Given the description of an element on the screen output the (x, y) to click on. 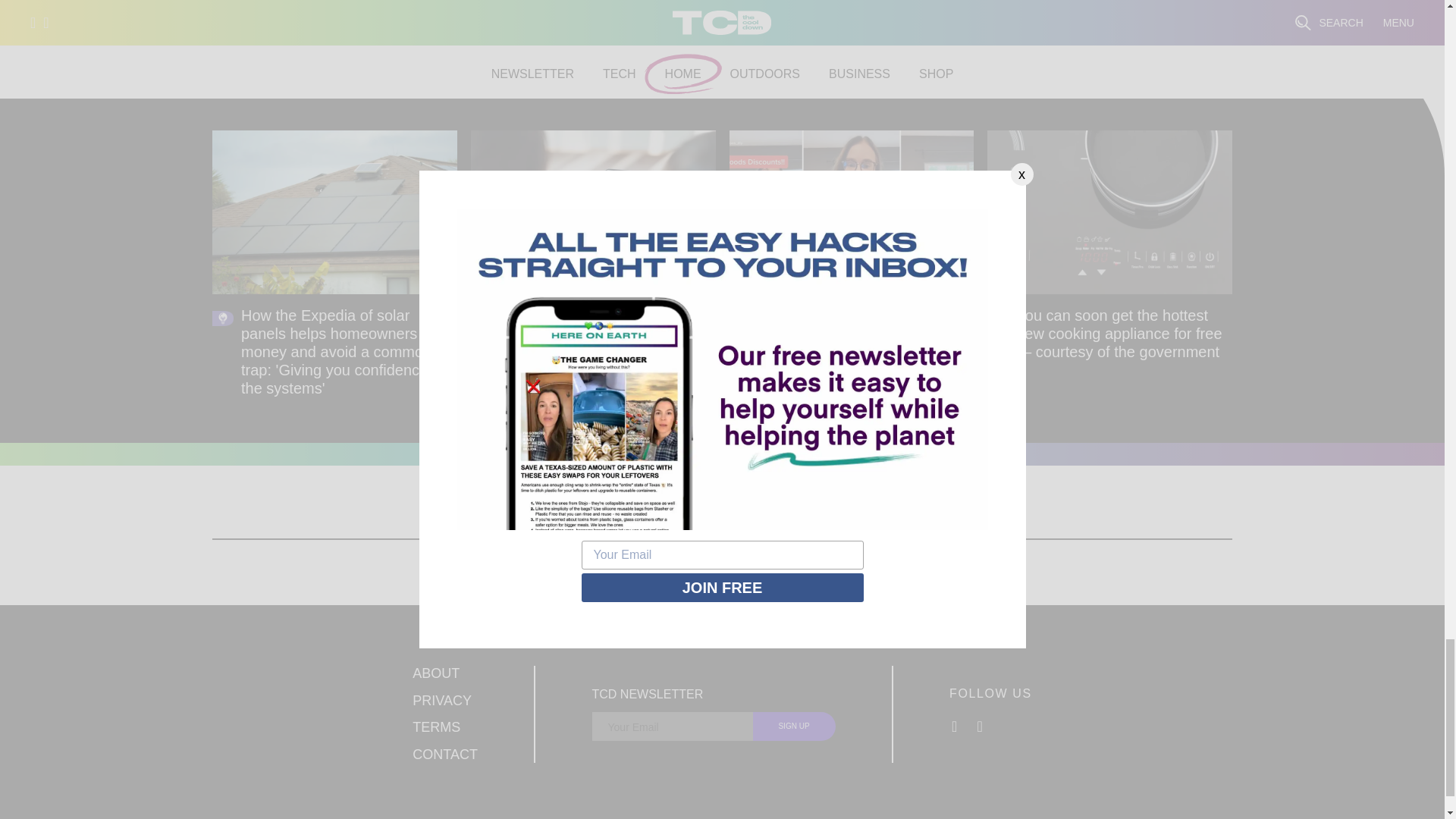
Sign Up (793, 726)
